Given the description of an element on the screen output the (x, y) to click on. 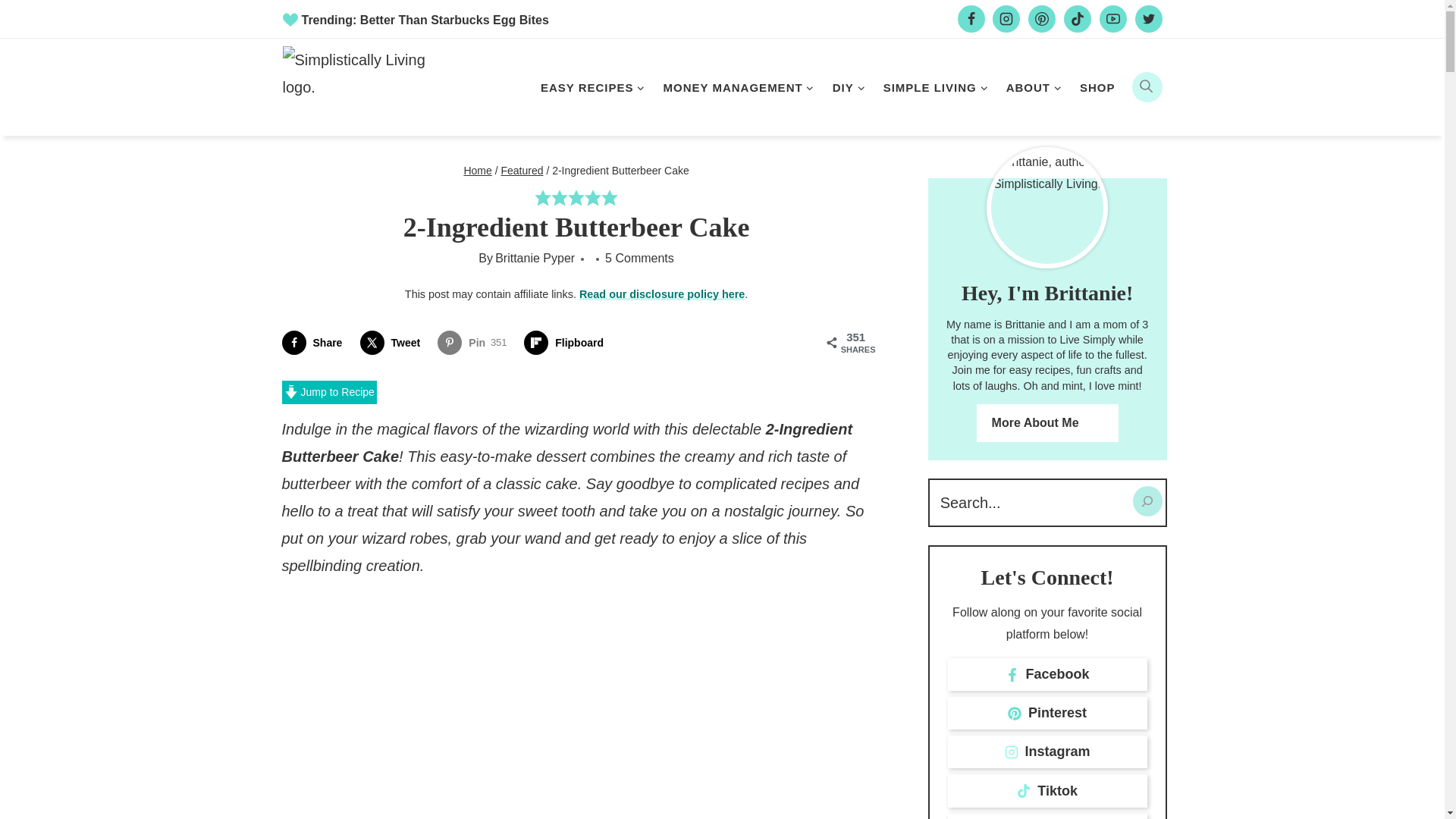
MONEY MANAGEMENT (738, 86)
Share on Facebook (315, 342)
EASY RECIPES (592, 86)
Save to Pinterest (475, 342)
Share on X (393, 342)
5 Comments (639, 259)
Trending: Better Than Starbucks Egg Bites (415, 20)
Share on Flipboard (567, 342)
DIY (849, 86)
Jump to Recipe (329, 392)
